Given the description of an element on the screen output the (x, y) to click on. 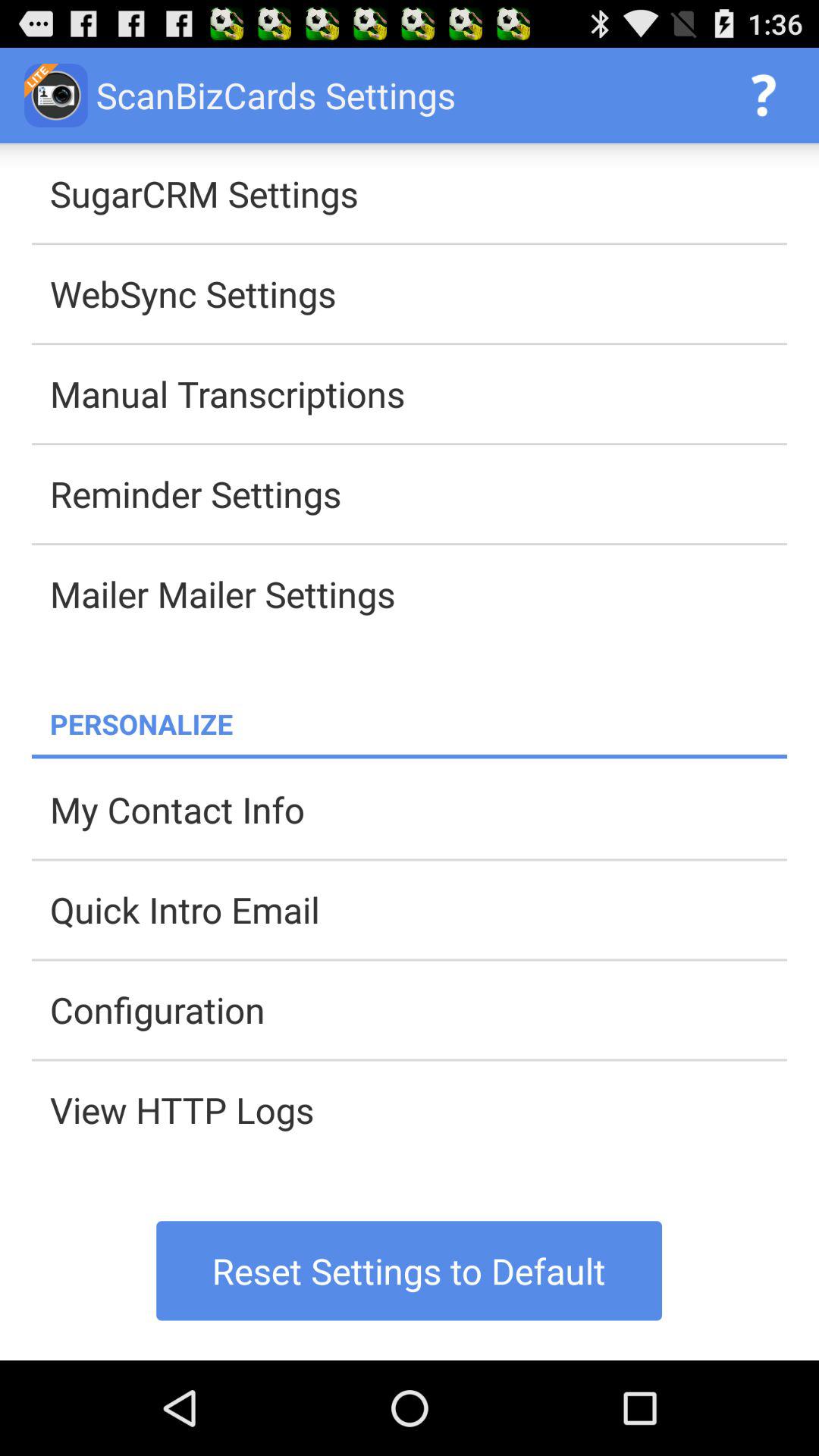
select the sugarcrm settings item (418, 193)
